Given the description of an element on the screen output the (x, y) to click on. 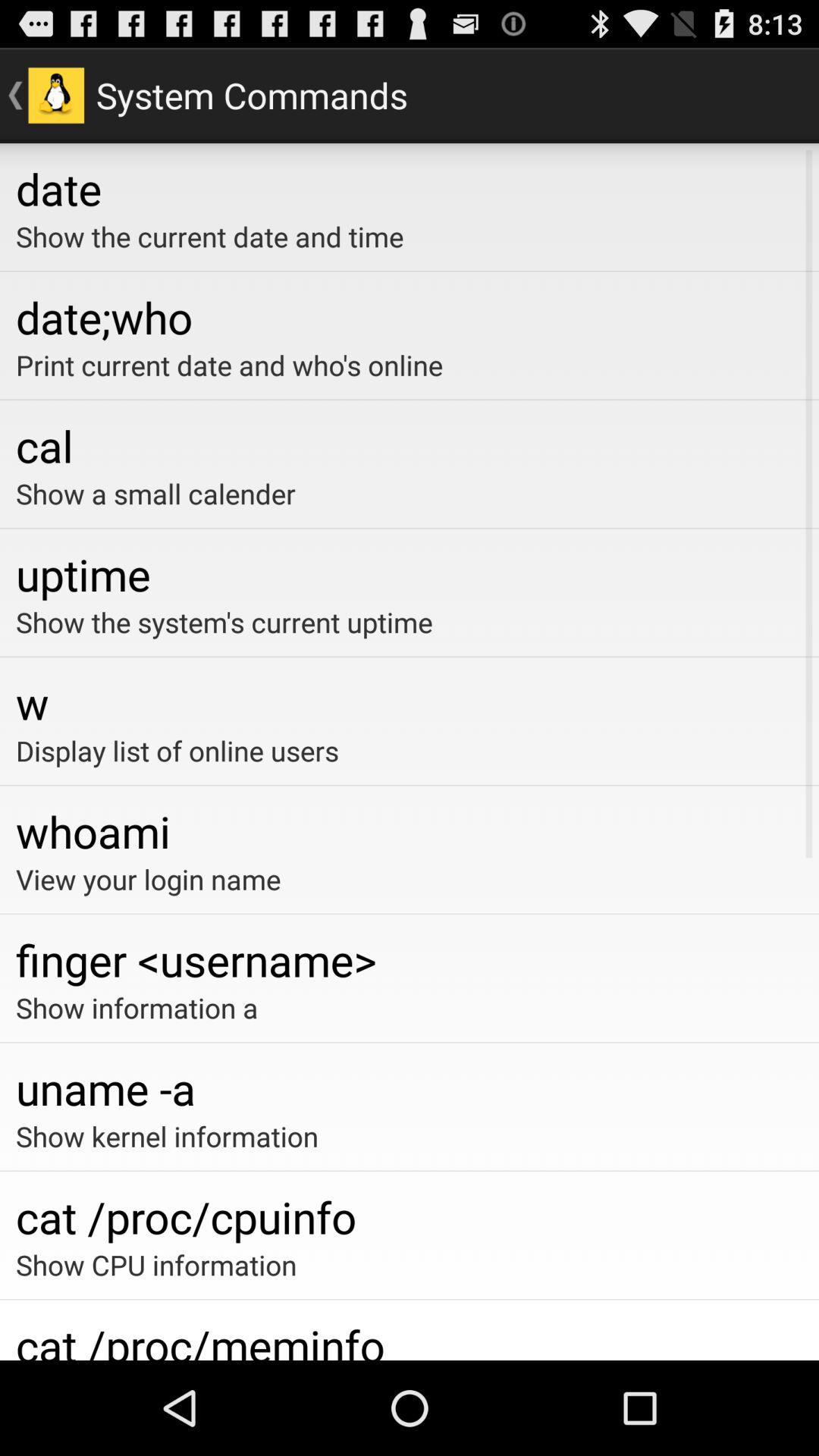
click icon above the view your login icon (409, 830)
